Given the description of an element on the screen output the (x, y) to click on. 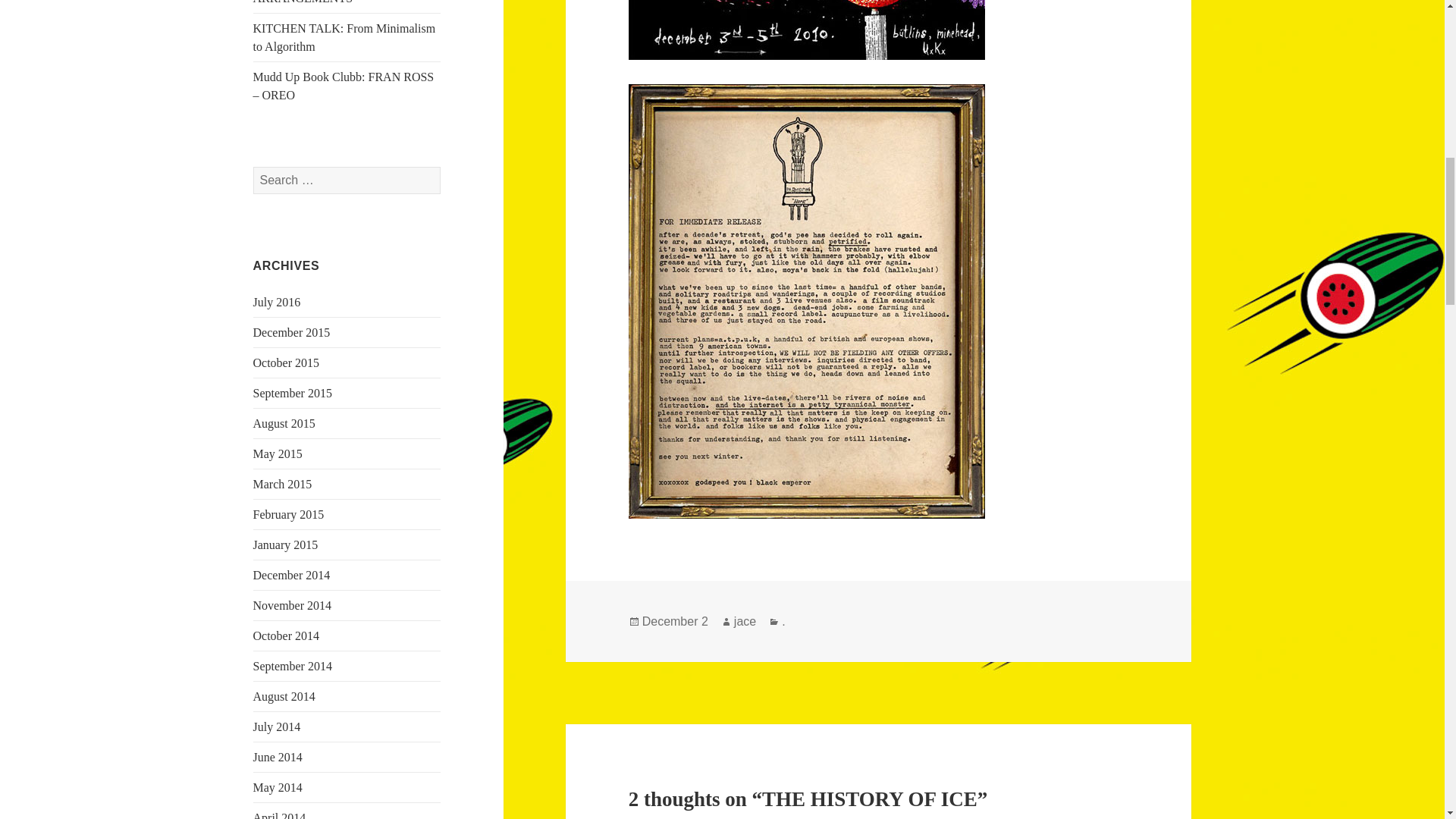
March 2015 (283, 483)
January 2015 (285, 544)
NYC SHOW: UNNATURAL STAR ARRANGEMENTS (341, 2)
August 2015 (284, 422)
December 2015 (291, 332)
July 2014 (277, 726)
October 2014 (286, 635)
July 2016 (277, 301)
December 2014 (291, 574)
September 2015 (292, 392)
KITCHEN TALK: From Minimalism to Algorithm (344, 37)
June 2014 (277, 757)
